Given the description of an element on the screen output the (x, y) to click on. 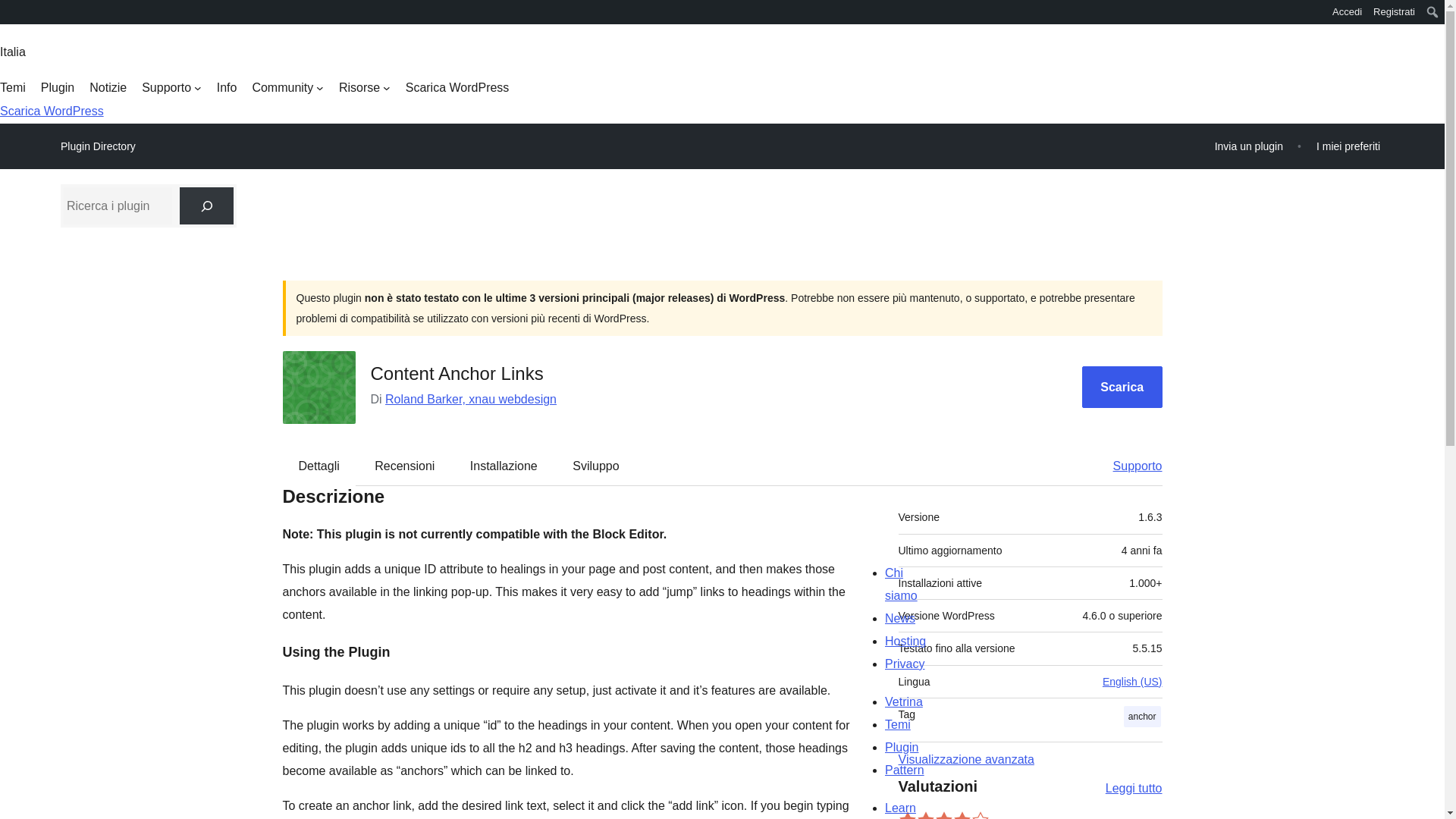
Info (226, 87)
Plugin Directory (97, 146)
Plugin (57, 87)
Community (287, 87)
Notizie (107, 87)
Invia un plugin (1249, 145)
Registrati (1394, 12)
Temi (13, 87)
WordPress.org (10, 10)
Accedi (1347, 12)
Scarica WordPress (457, 87)
Cerca (14, 13)
Supporto (171, 87)
Scarica WordPress (51, 110)
WordPress.org (10, 16)
